Given the description of an element on the screen output the (x, y) to click on. 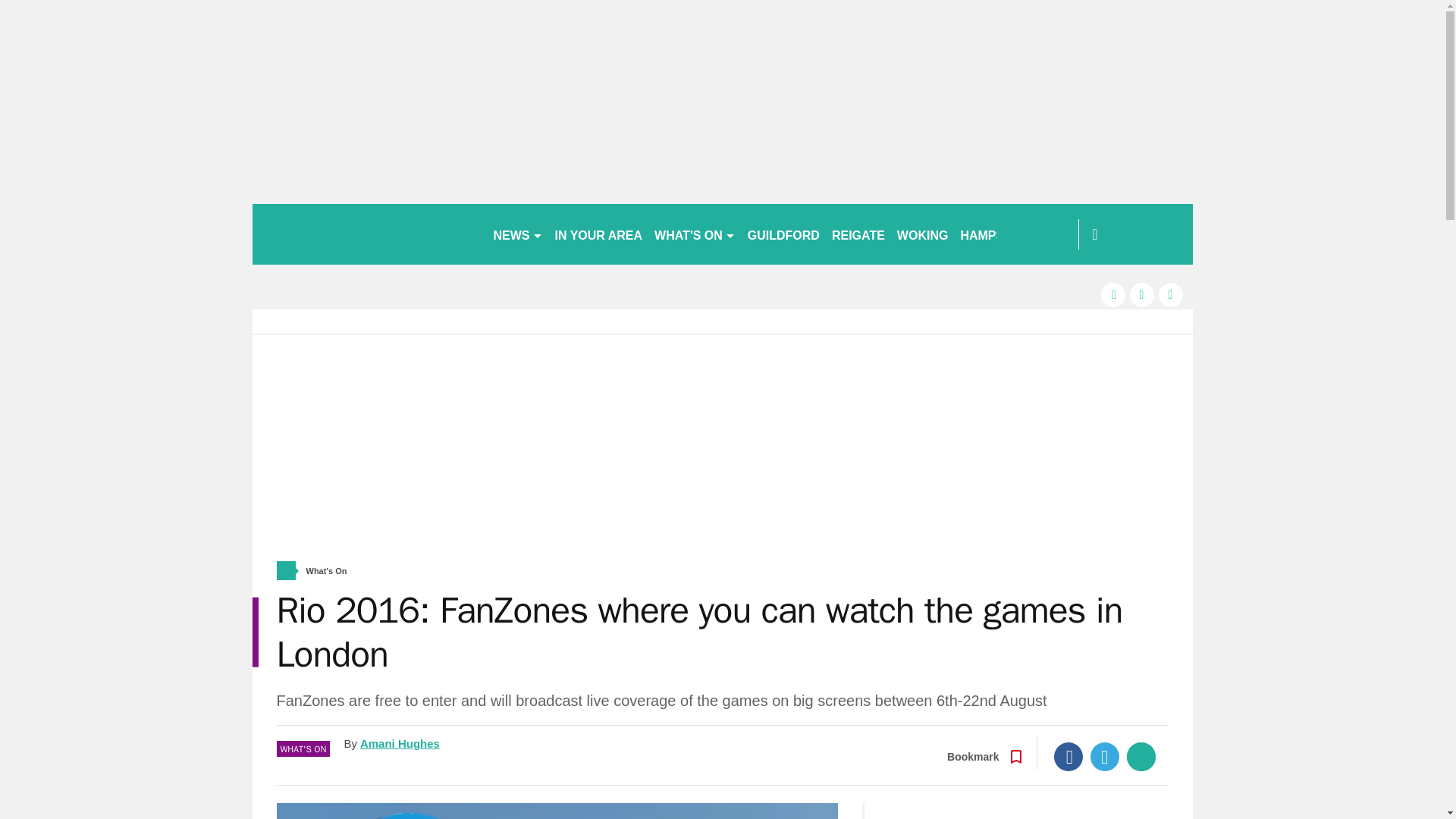
facebook (1112, 294)
instagram (1170, 294)
twitter (1141, 294)
getsurrey (365, 233)
Facebook (1068, 756)
Twitter (1104, 756)
GUILDFORD (783, 233)
REIGATE (858, 233)
NEWS (517, 233)
WHAT'S ON (694, 233)
